Given the description of an element on the screen output the (x, y) to click on. 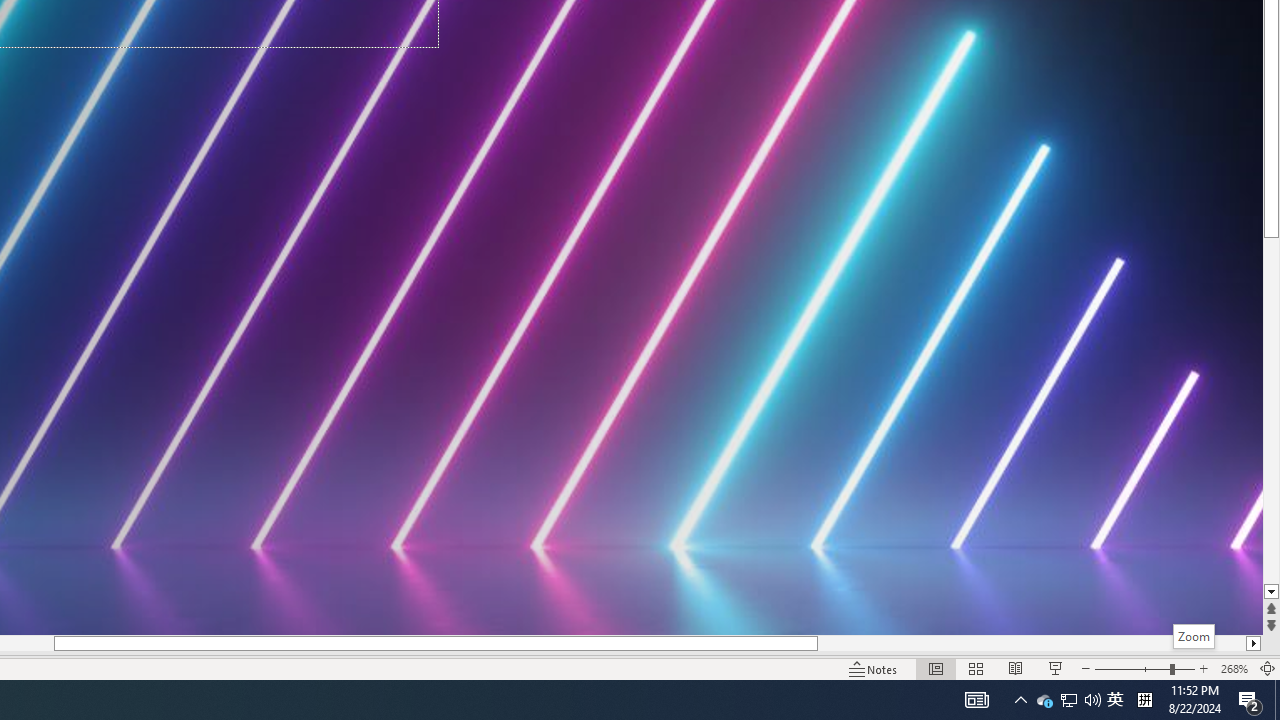
Zoom 268% (1234, 668)
